Given the description of an element on the screen output the (x, y) to click on. 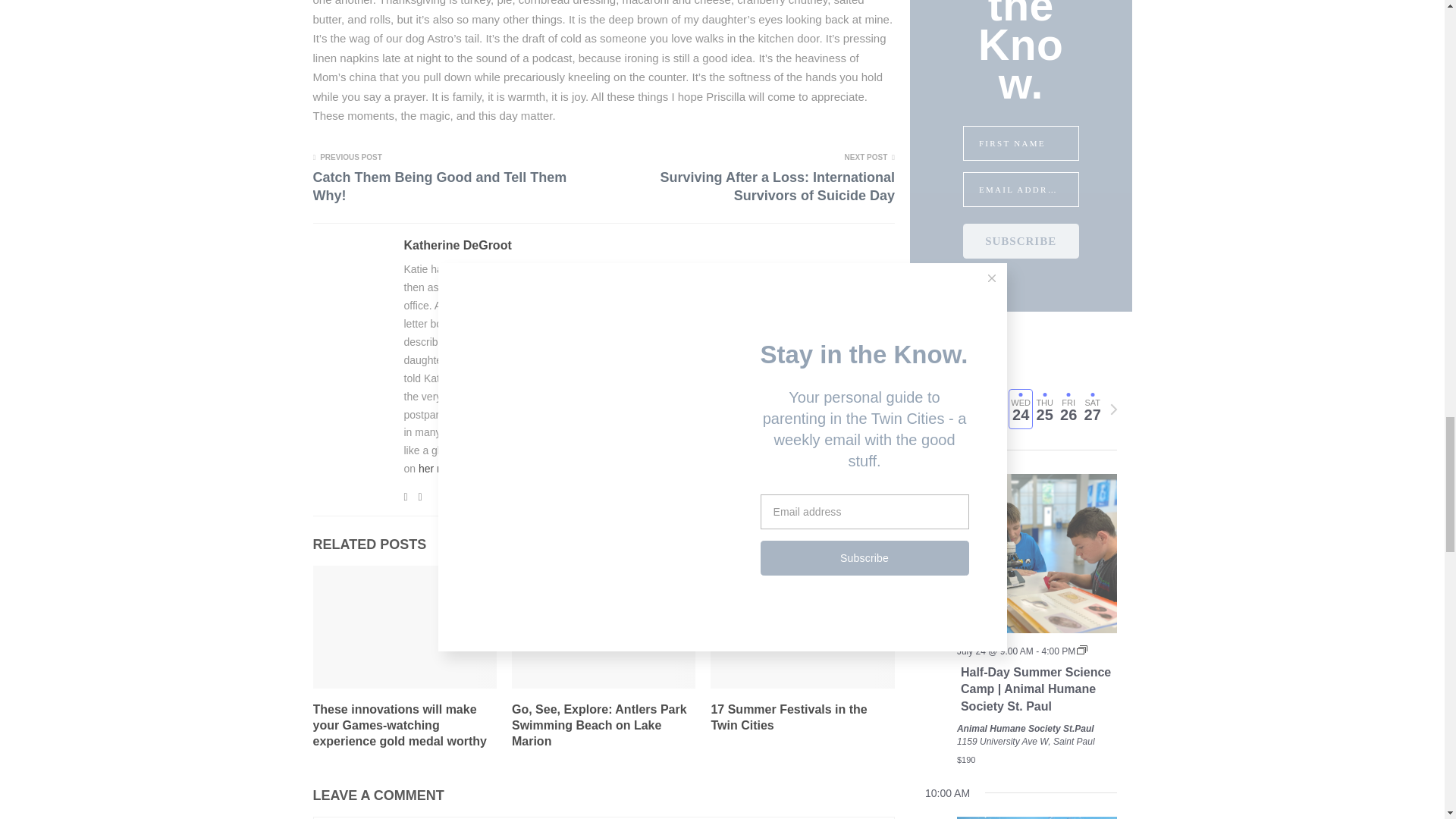
Event Series (1082, 649)
Posts by Katherine DeGroot (457, 245)
